Given the description of an element on the screen output the (x, y) to click on. 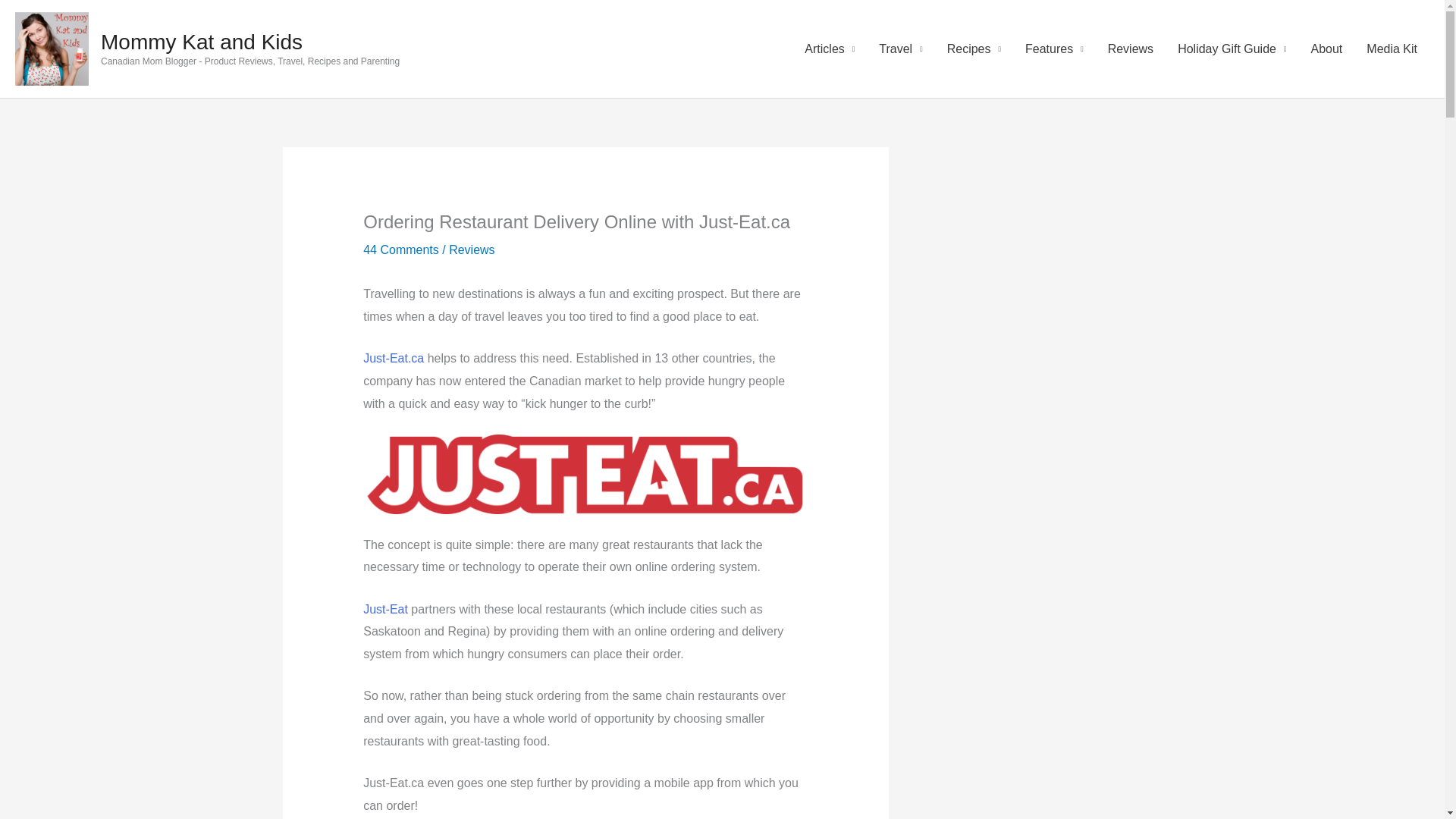
Mommy Kat and Kids (201, 42)
Holiday Gift Guide (1232, 48)
